Given the description of an element on the screen output the (x, y) to click on. 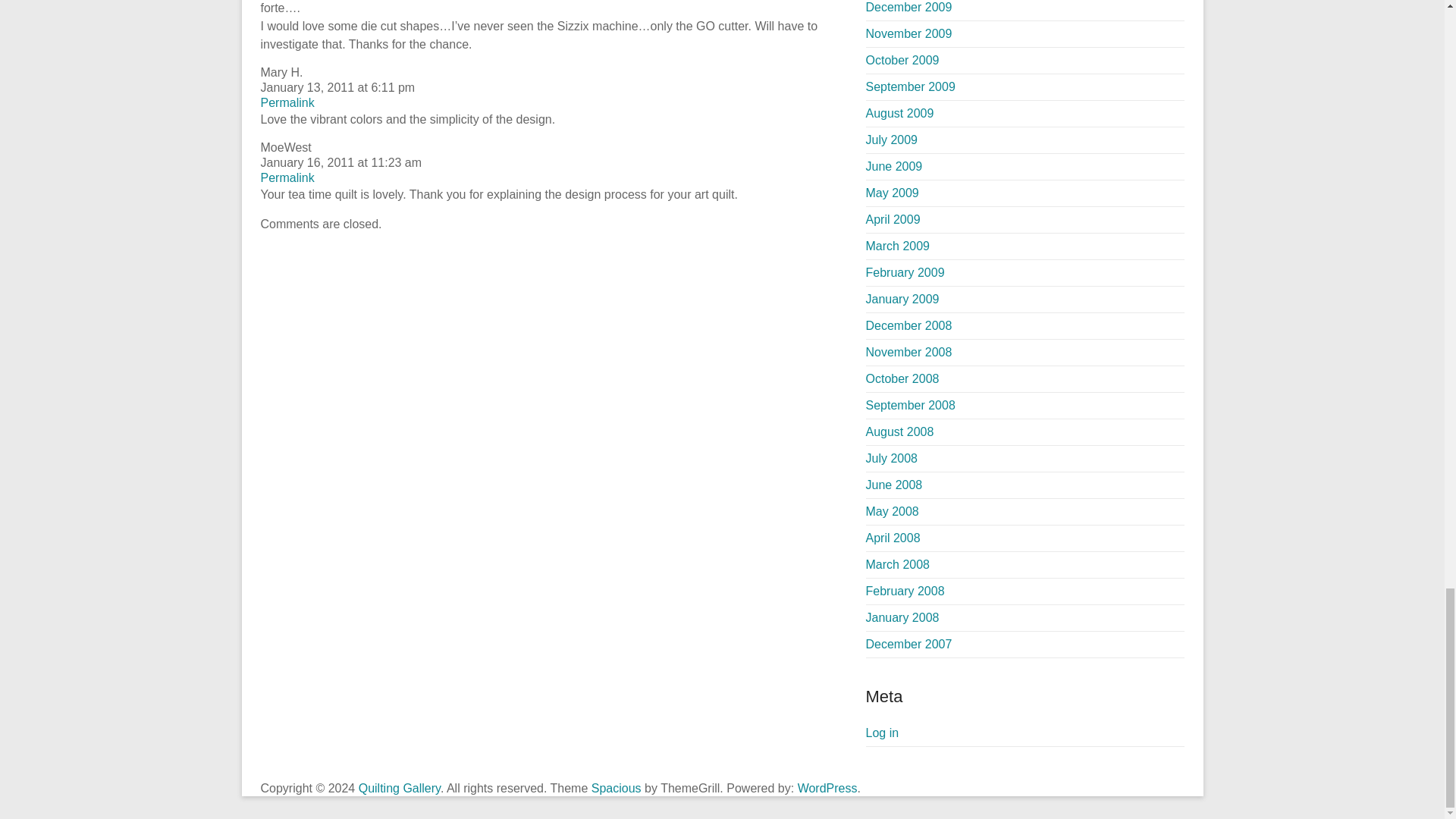
Quilting Gallery (399, 788)
Permalink (287, 102)
Spacious (616, 788)
WordPress (827, 788)
Permalink (287, 177)
